Given the description of an element on the screen output the (x, y) to click on. 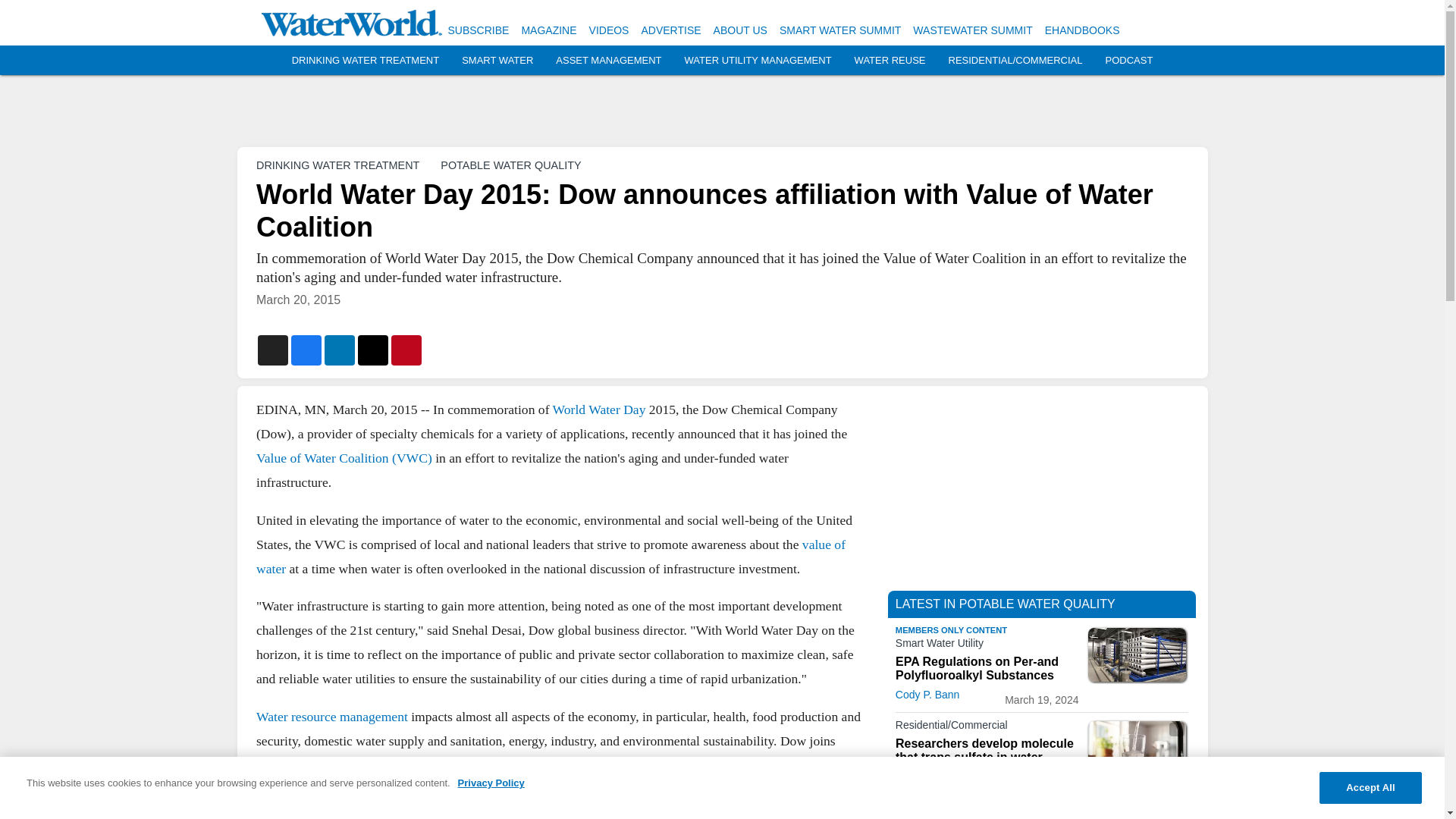
SMART WATER (496, 60)
POTABLE WATER QUALITY (510, 164)
World Water Day (598, 409)
WASTEWATER SUMMIT (972, 30)
ASSET MANAGEMENT (608, 60)
MAGAZINE (548, 30)
VIDEOS (608, 30)
ABOUT US (740, 30)
EHANDBOOKS (1082, 30)
SMART WATER SUMMIT (839, 30)
WATER UTILITY MANAGEMENT (757, 60)
WATER REUSE (890, 60)
PODCAST (1129, 60)
VWC announces addition of 12 new partners (549, 800)
DRINKING WATER TREATMENT (365, 60)
